Given the description of an element on the screen output the (x, y) to click on. 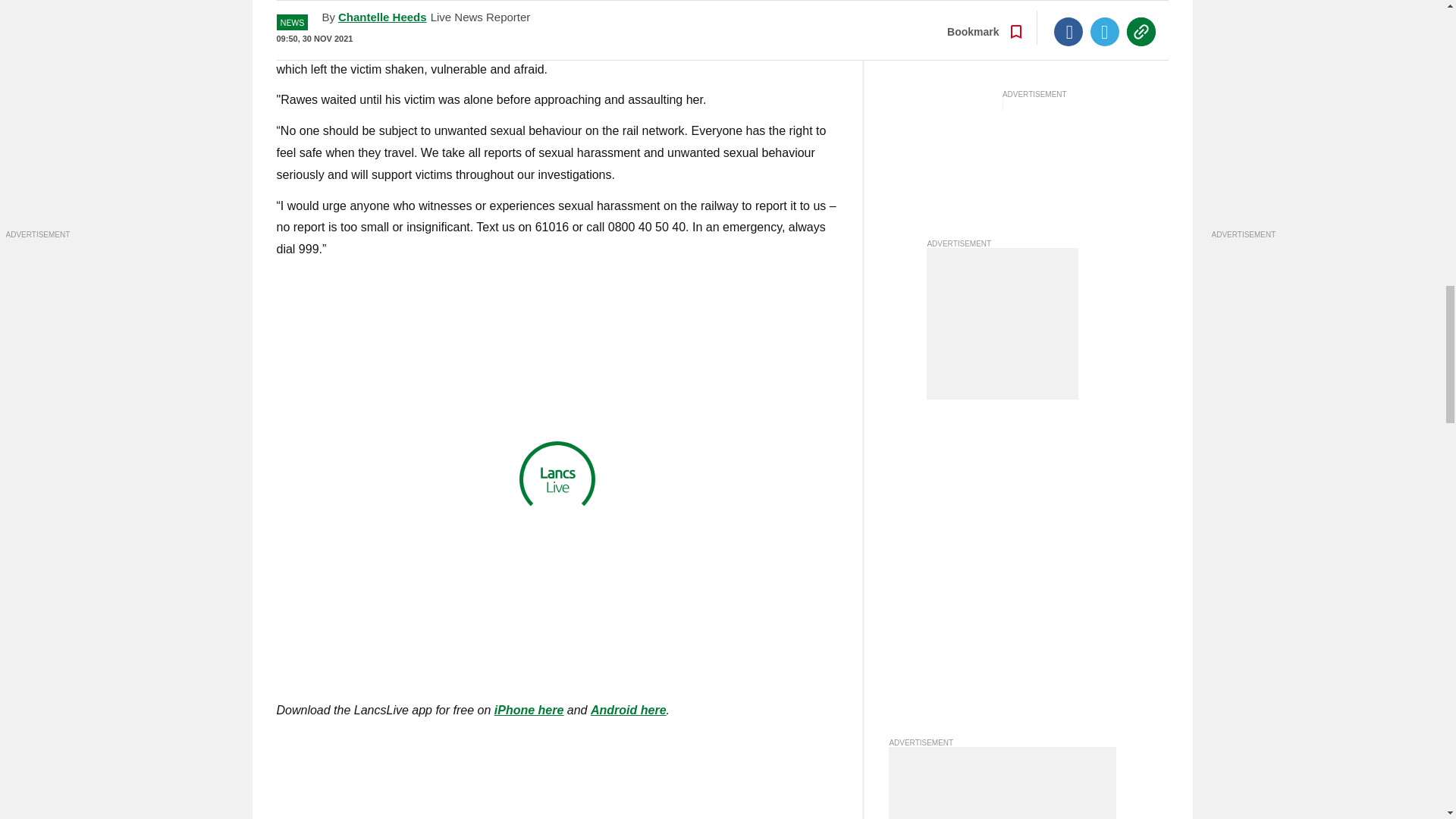
3rd party ad content (1002, 323)
3rd party ad content (1002, 782)
